Given the description of an element on the screen output the (x, y) to click on. 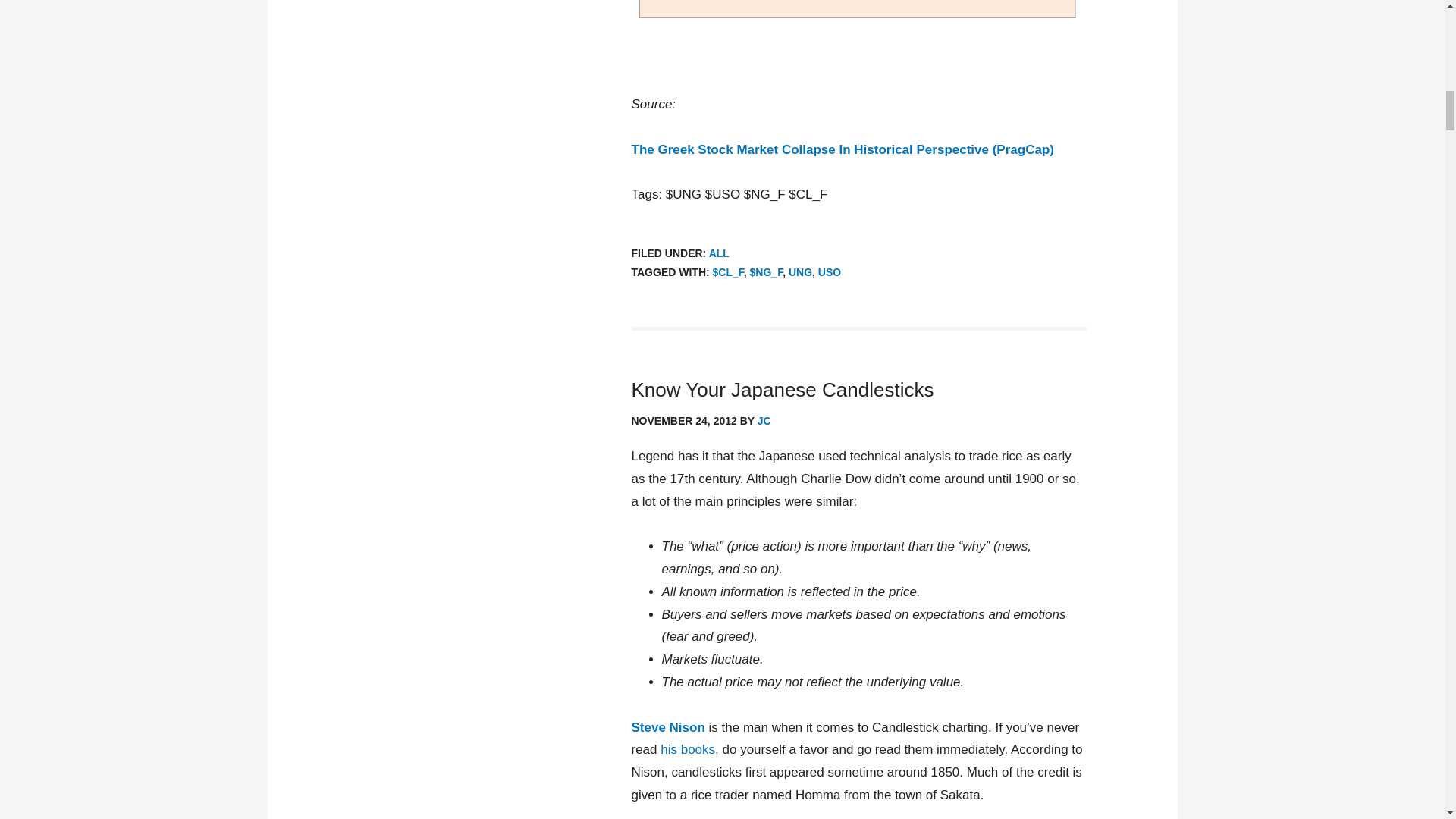
11-26-12 oil vs natgas (858, 12)
